Given the description of an element on the screen output the (x, y) to click on. 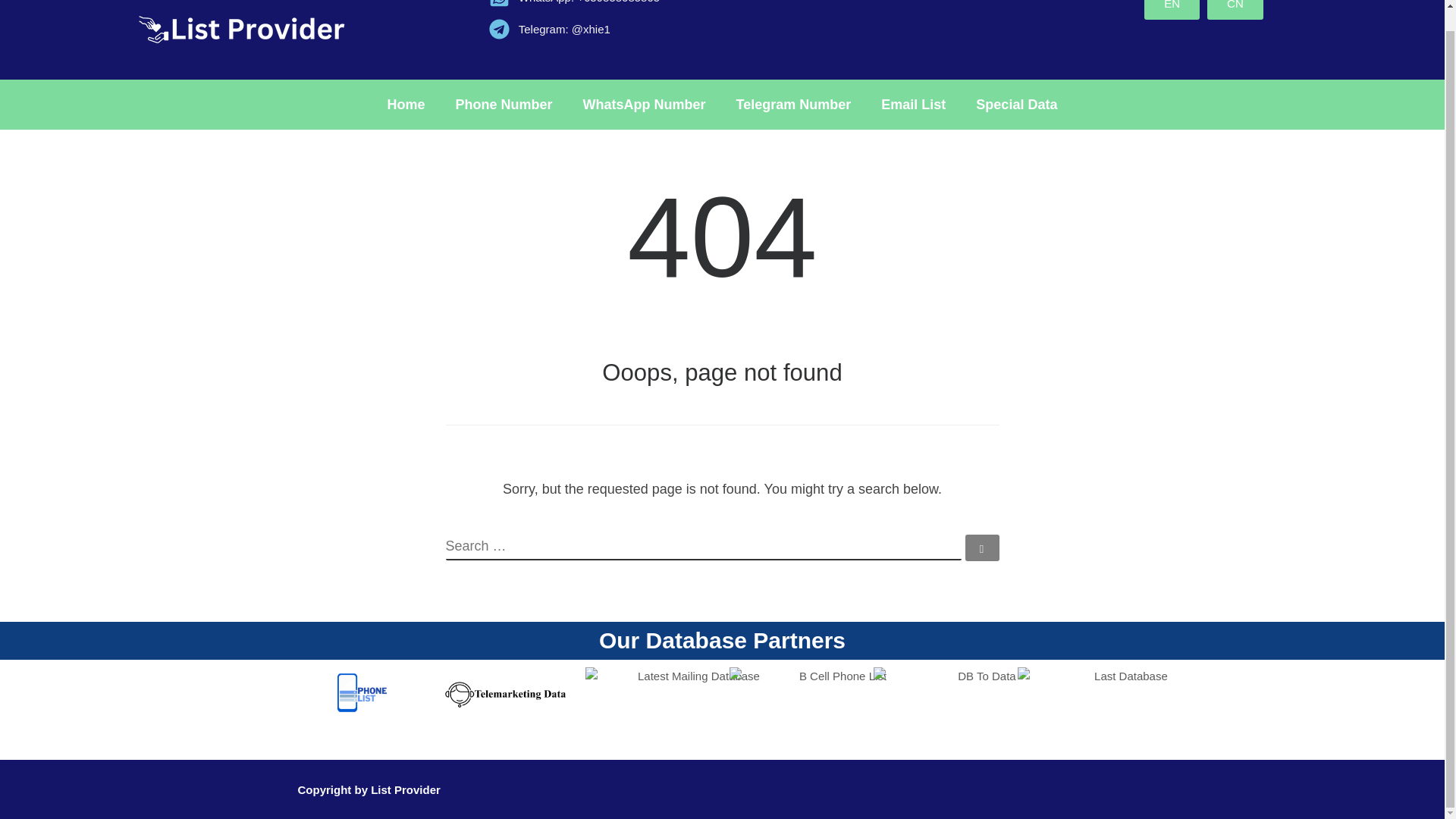
Phone Number (504, 104)
Special Data (1015, 104)
List Provider (406, 789)
Email List (913, 104)
WhatsApp Number (643, 104)
Telegram Number (793, 104)
CN (1235, 9)
Home (406, 104)
EN (1171, 9)
